Given the description of an element on the screen output the (x, y) to click on. 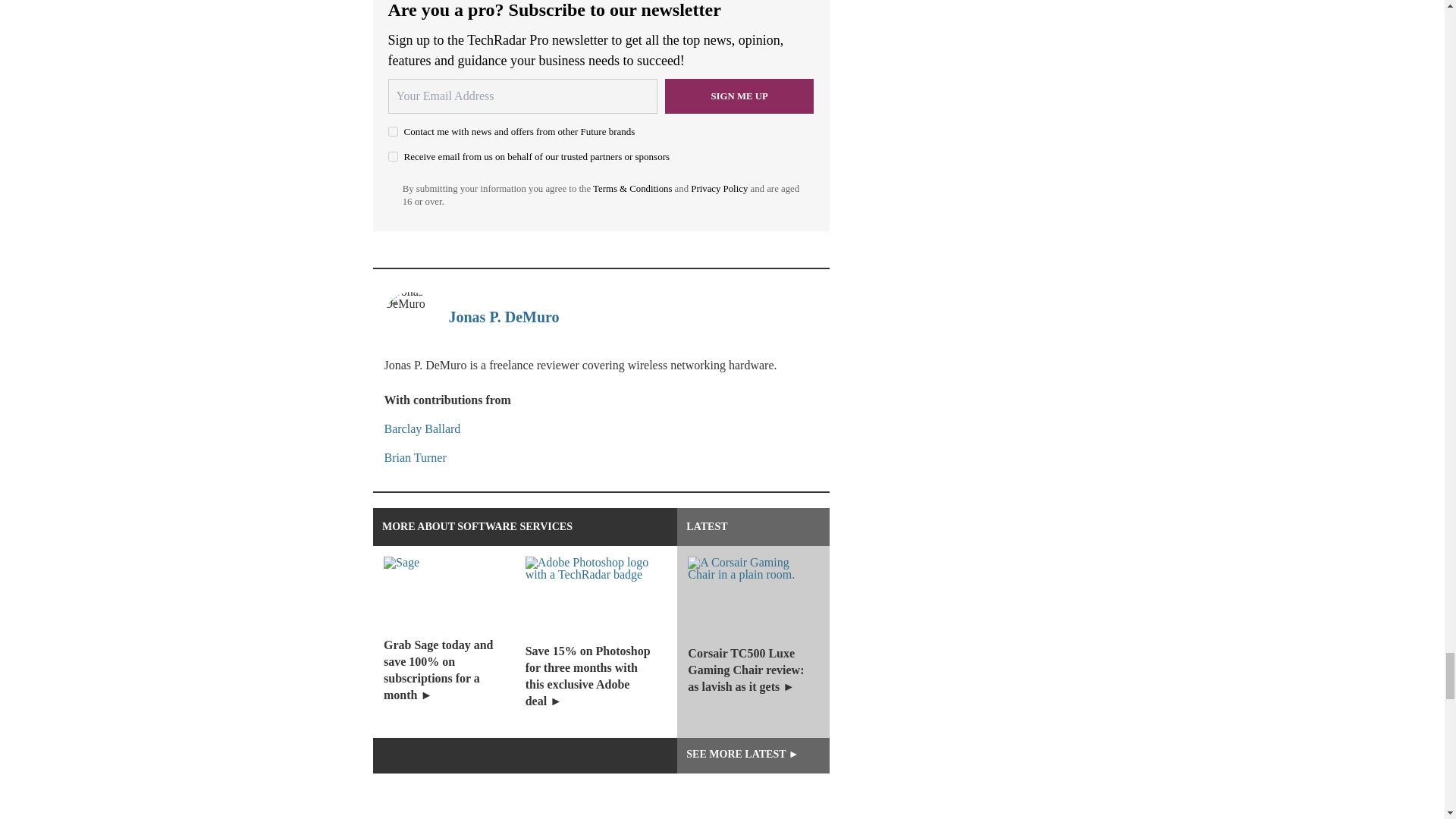
Sign me up (739, 95)
on (392, 156)
on (392, 131)
